Given the description of an element on the screen output the (x, y) to click on. 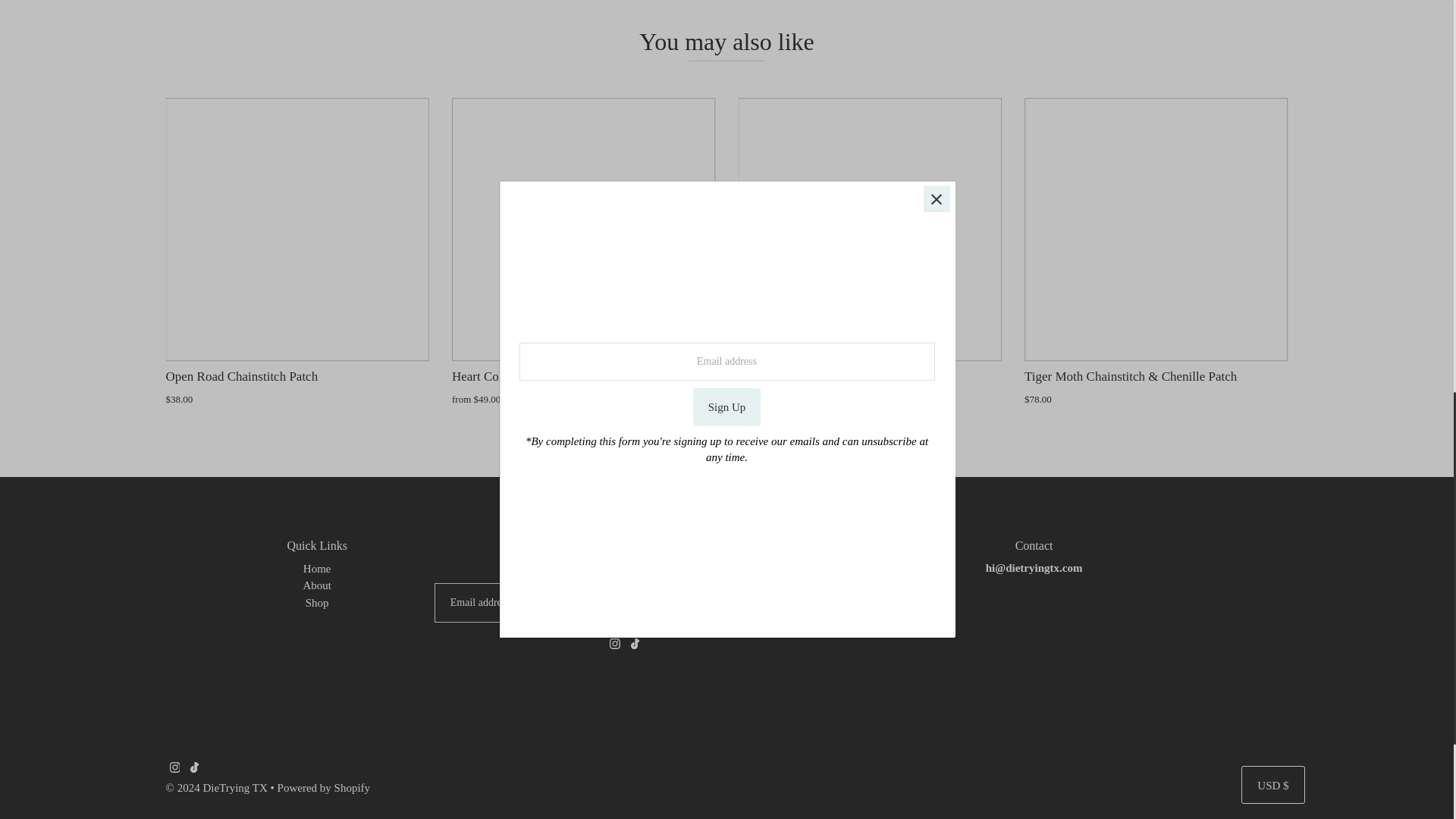
Desert Skull Patch (870, 229)
Heart Collection Patches (583, 229)
Tiktok (194, 768)
Open Road Chainstitch Patch (297, 229)
Tiktok (634, 644)
